Given the description of an element on the screen output the (x, y) to click on. 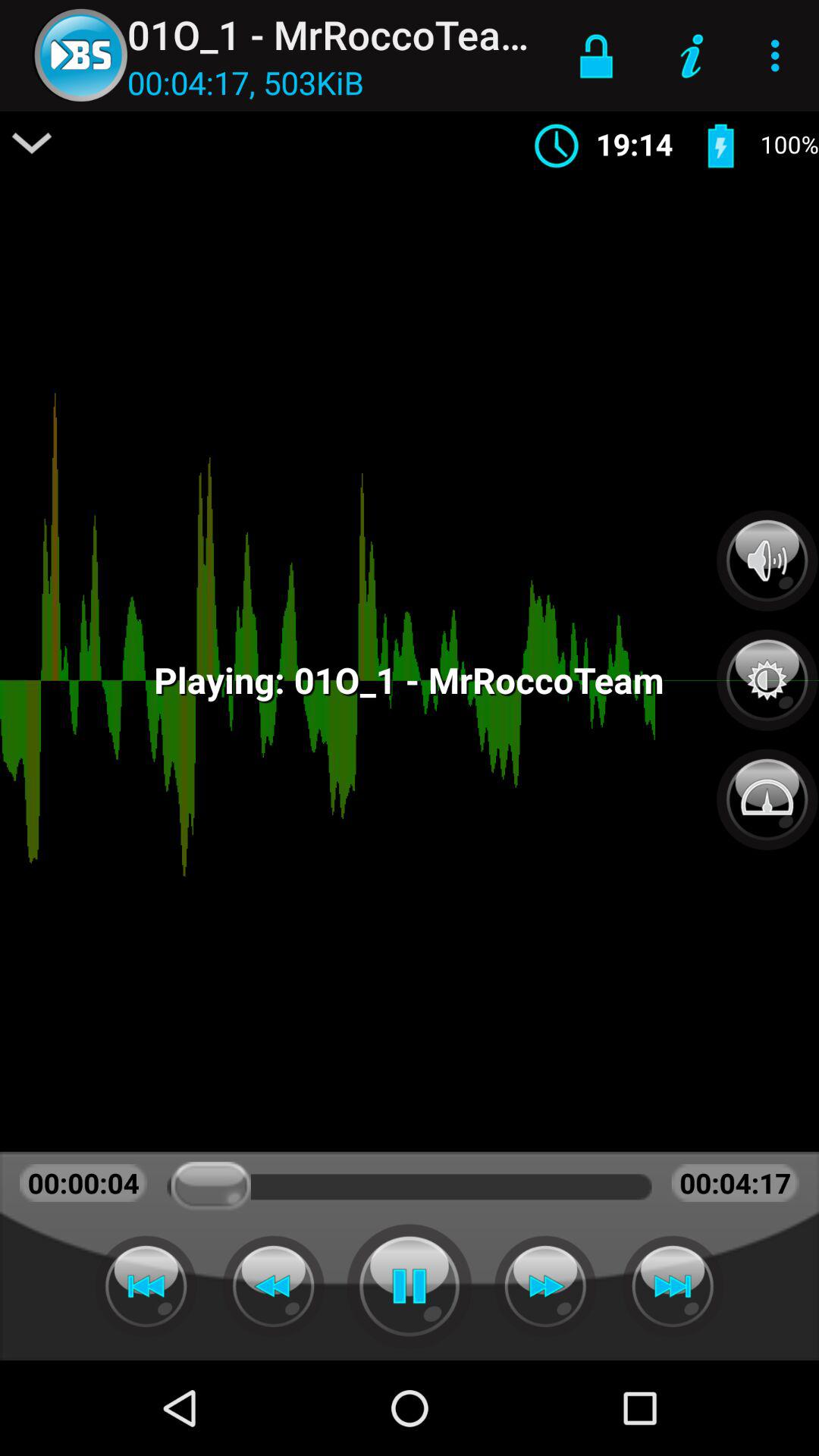
select play button (409, 1286)
